Given the description of an element on the screen output the (x, y) to click on. 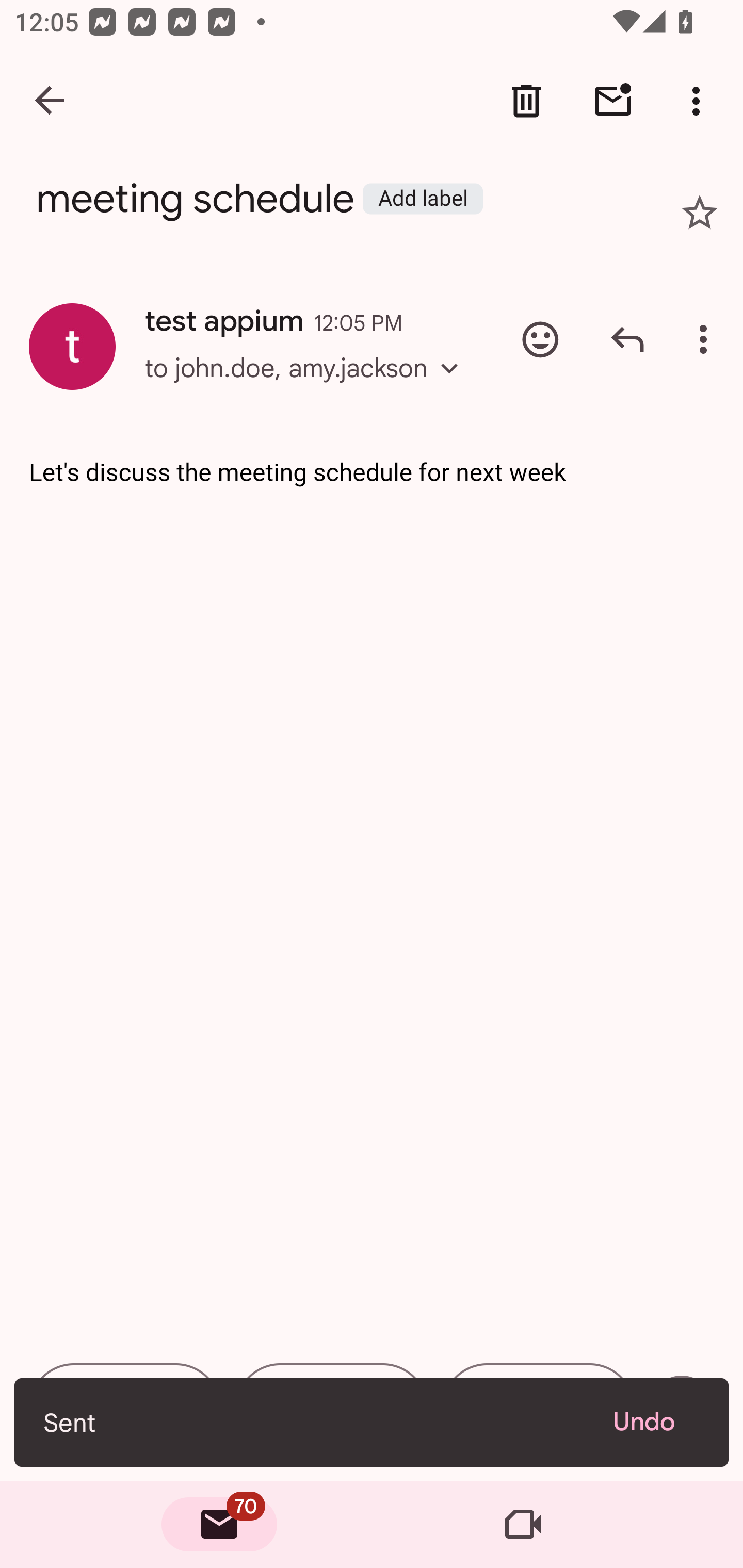
Navigate up (50, 101)
Delete (525, 101)
Mark unread (612, 101)
More options (699, 101)
Add star (699, 212)
Add emoji reaction (540, 339)
Reply (626, 339)
More options (706, 339)
Show contact information for test appium (71, 346)
to john.doe, amy.jackson (307, 386)
Undo (655, 1422)
Meet (523, 1524)
